Given the description of an element on the screen output the (x, y) to click on. 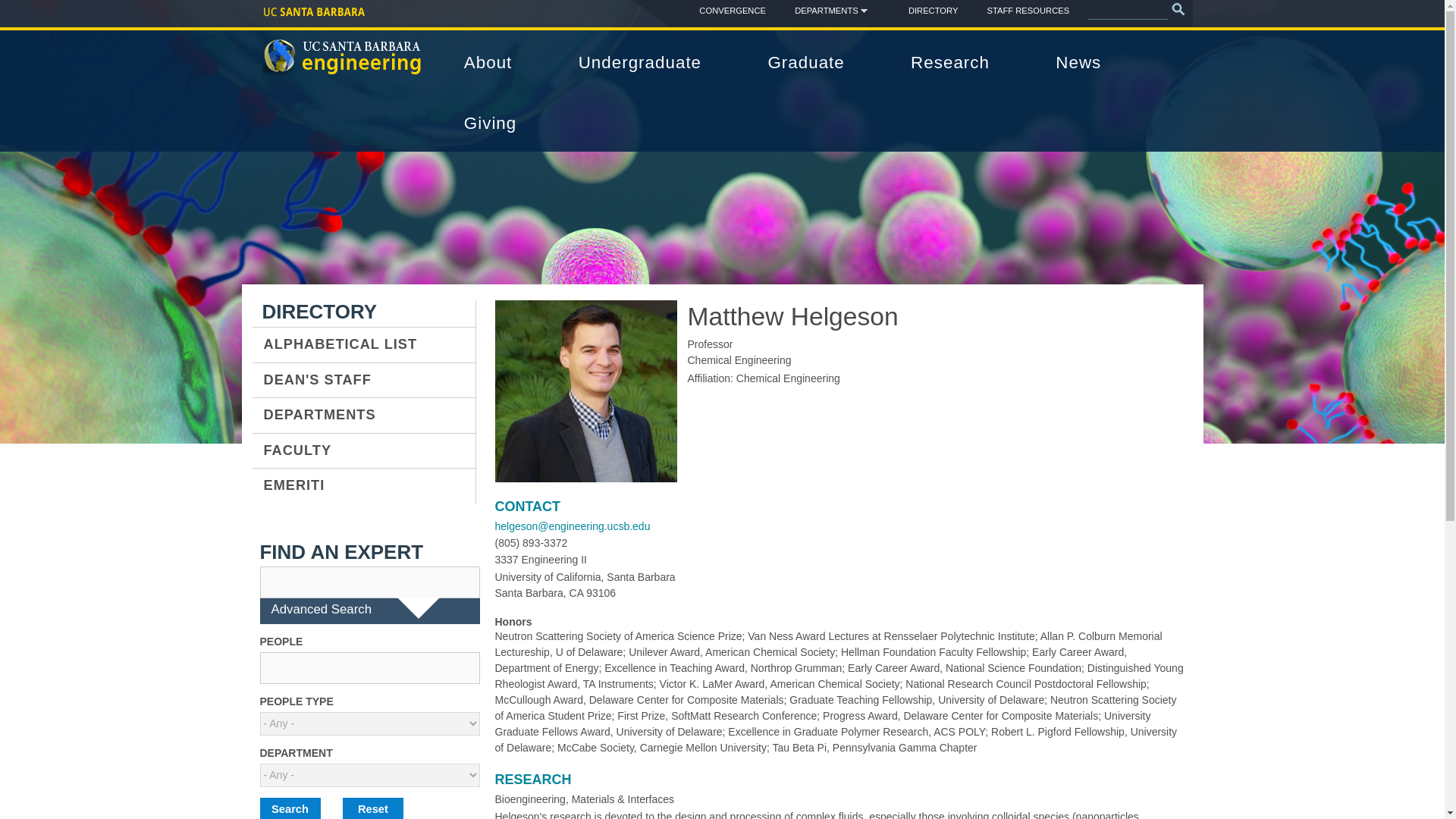
Graduate (813, 62)
Research (956, 62)
CONVERGENCE (732, 10)
Search (289, 808)
College of Engineering - UC Santa Barbara (342, 69)
Convergence Magazine (732, 10)
Undergraduate (647, 62)
Enter the terms you wish to search for. (1127, 9)
STAFF RESOURCES (1028, 10)
News (1086, 62)
DIRECTORY (933, 10)
Giving (498, 123)
Reset (372, 808)
About (496, 62)
